Given the description of an element on the screen output the (x, y) to click on. 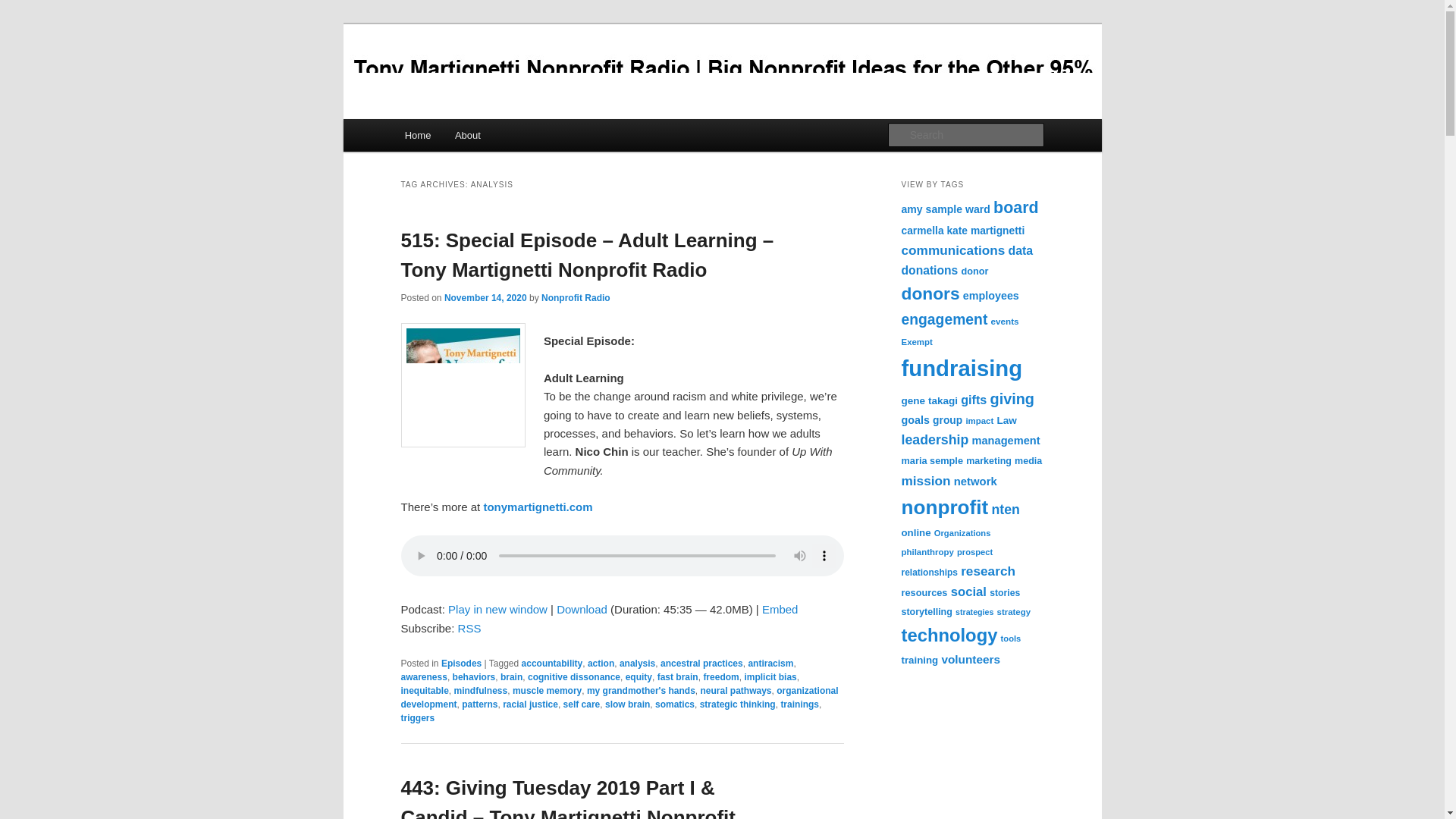
Tony Martignetti Nonprofit Radio (577, 78)
neural pathways (735, 690)
equity (639, 676)
Play in new window (497, 608)
Episodes (461, 663)
9:01 pm (485, 297)
Embed (779, 608)
analysis (637, 663)
Nonprofit Radio (575, 297)
organizational development (619, 697)
Download (581, 608)
my grandmother's hands (640, 690)
freedom (720, 676)
tonymartignetti.com  (539, 506)
RSS (469, 627)
